Given the description of an element on the screen output the (x, y) to click on. 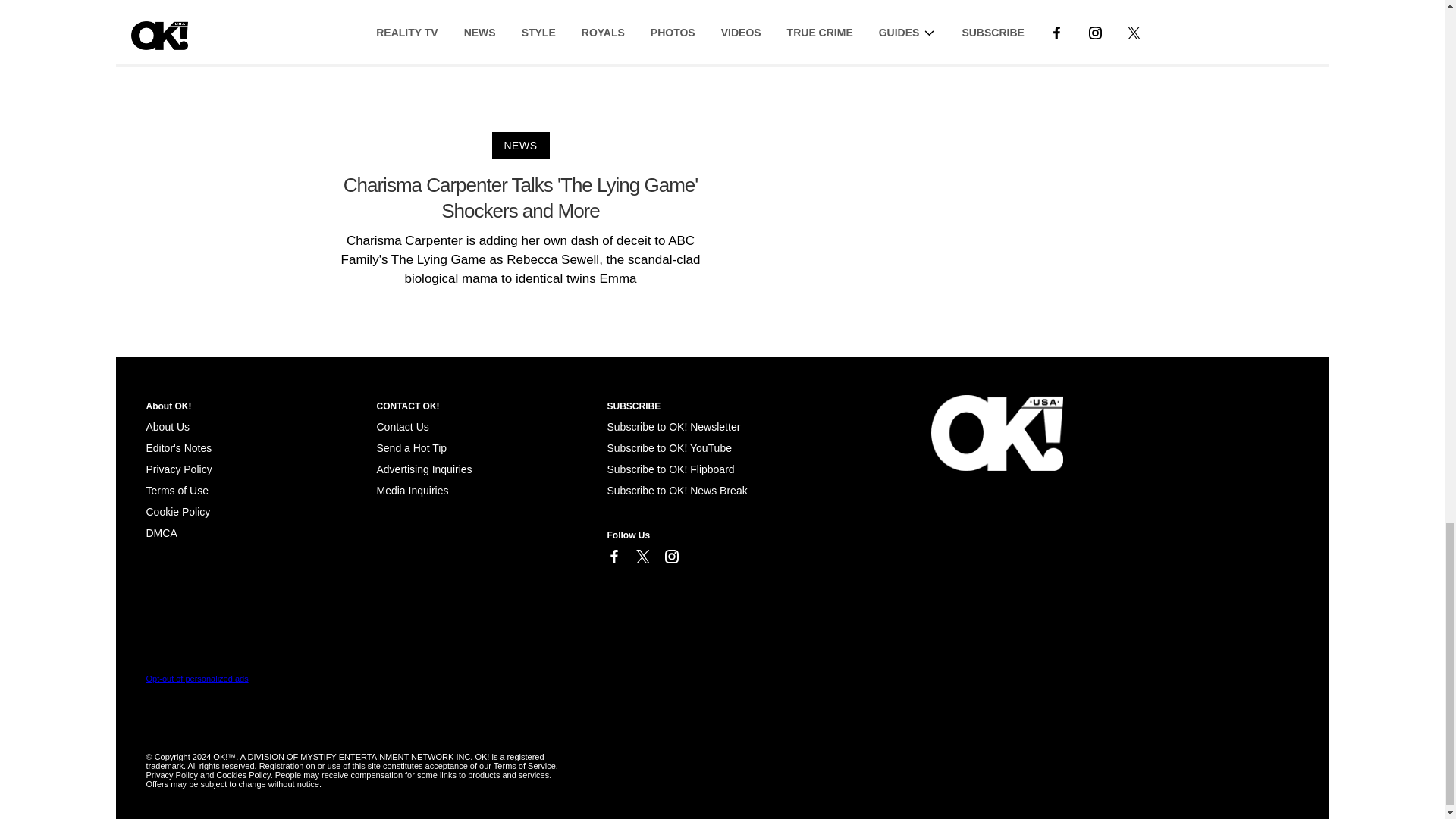
Cookie Policy (177, 511)
Cookie Policy (160, 532)
About Us (167, 426)
Link to Facebook (613, 556)
Privacy Policy (178, 469)
Contact Us (401, 426)
Link to Instagram (670, 556)
Privacy Policy (178, 469)
Contact Us (401, 426)
